Given the description of an element on the screen output the (x, y) to click on. 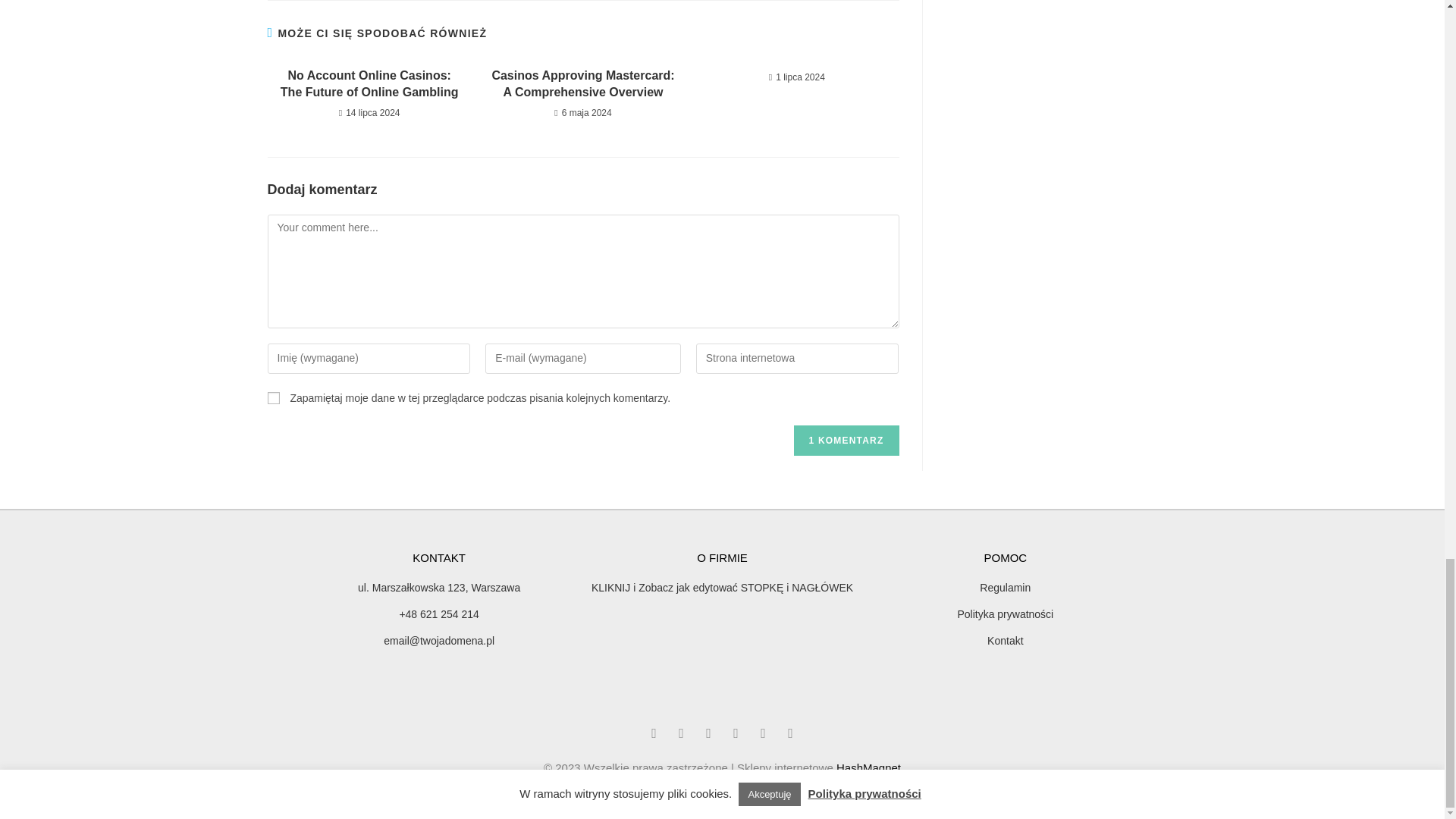
yes (272, 398)
Kontakt (1005, 640)
1 Komentarz (846, 440)
Regulamin (1005, 587)
1 Komentarz (846, 440)
HashMagnet (868, 767)
Casinos Approving Mastercard: A Comprehensive Overview (582, 84)
No Account Online Casinos: The Future of Online Gambling (368, 84)
